Given the description of an element on the screen output the (x, y) to click on. 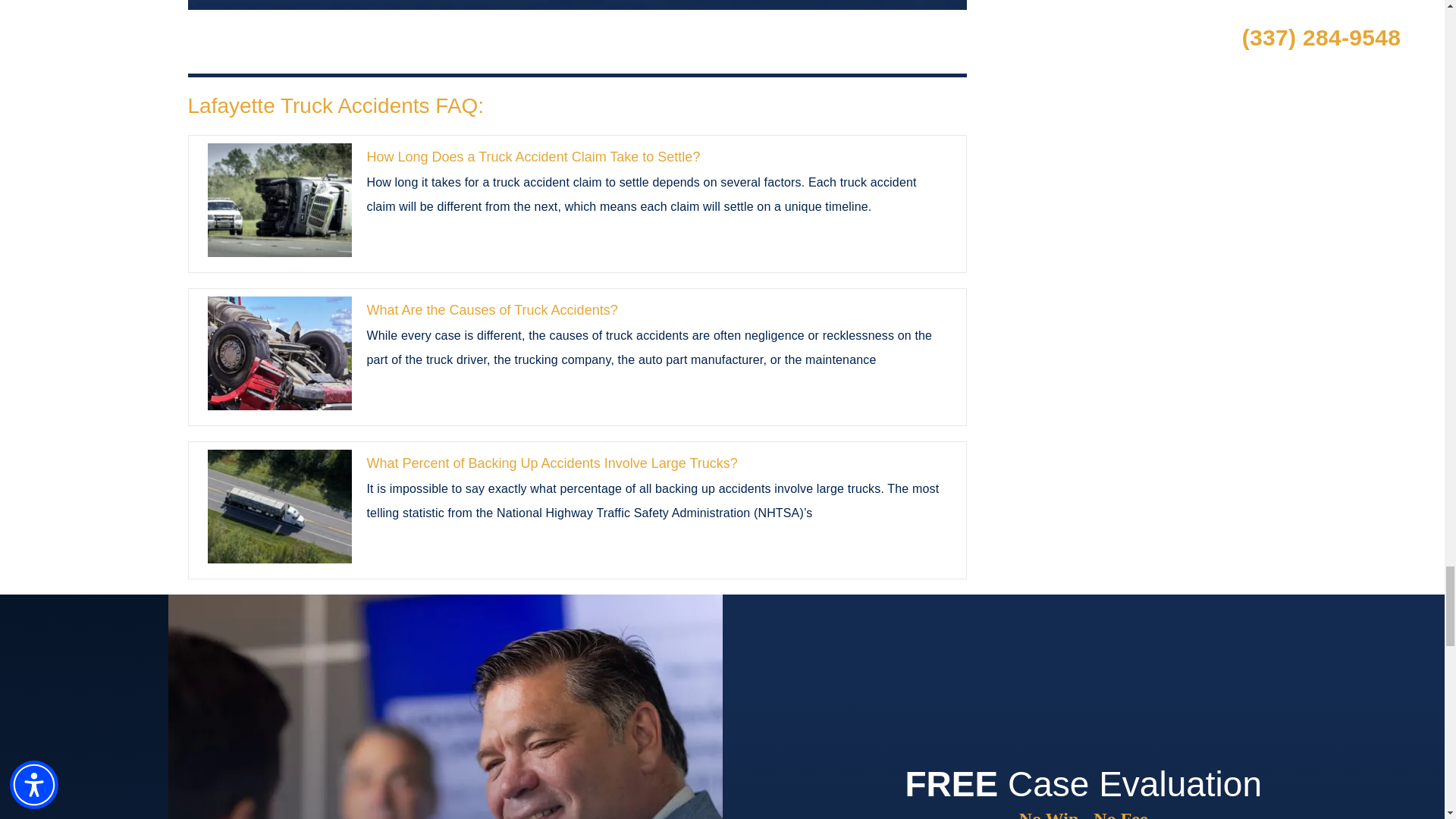
What Percent of Backing Up Accidents Involve Large Trucks? (280, 506)
How Long Does a Truck Accident Claim Take to Settle? (280, 200)
What Are the Causes of Truck Accidents? (280, 353)
